Given the description of an element on the screen output the (x, y) to click on. 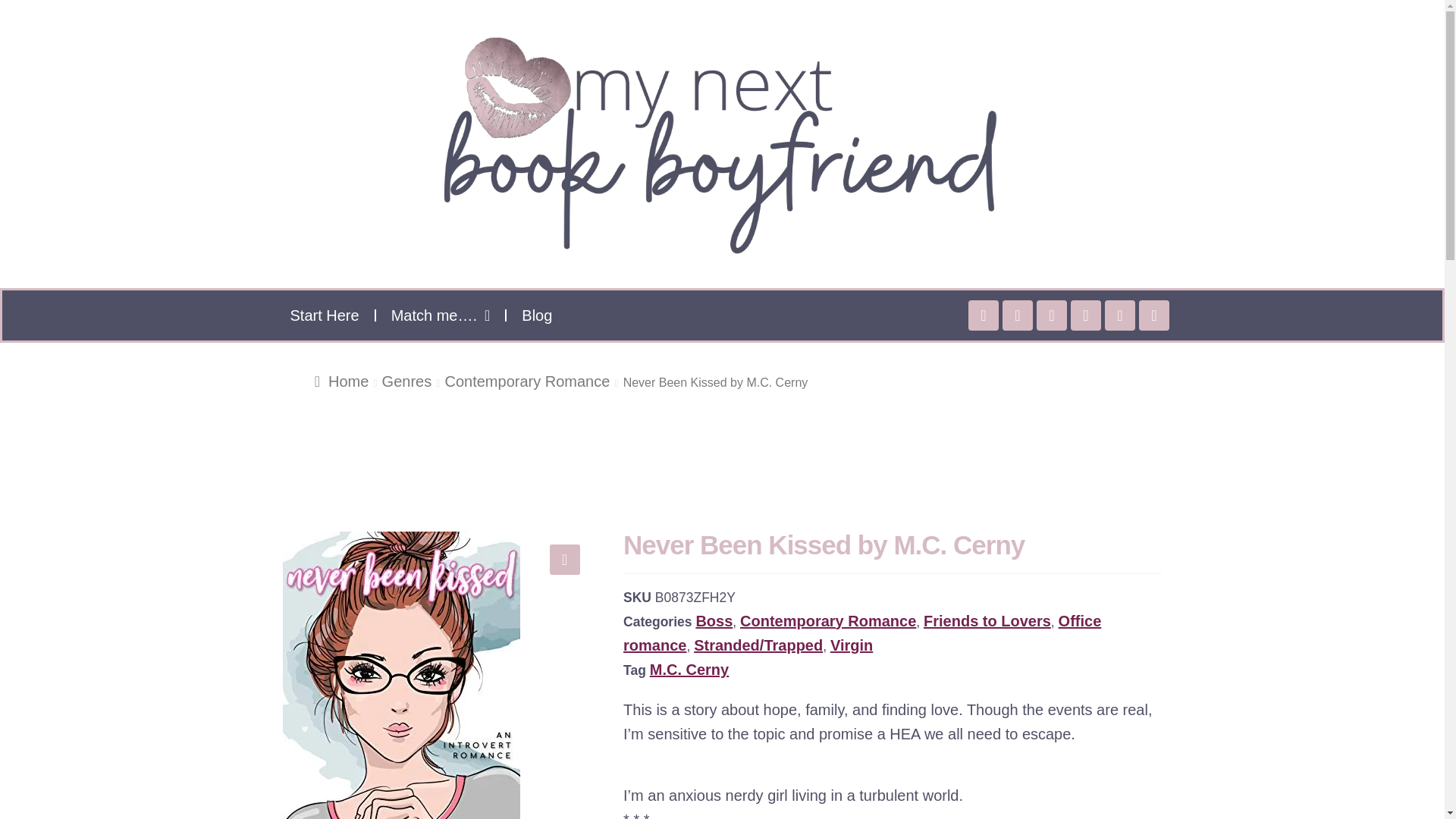
Boss (713, 620)
Home (341, 381)
Genres (406, 381)
Contemporary Romance (827, 620)
Friends to Lovers (987, 620)
Contemporary Romance (527, 381)
Office romance (861, 632)
Blog (536, 315)
Start Here (324, 315)
Virgin (850, 645)
M.C. Cerny (689, 669)
